Given the description of an element on the screen output the (x, y) to click on. 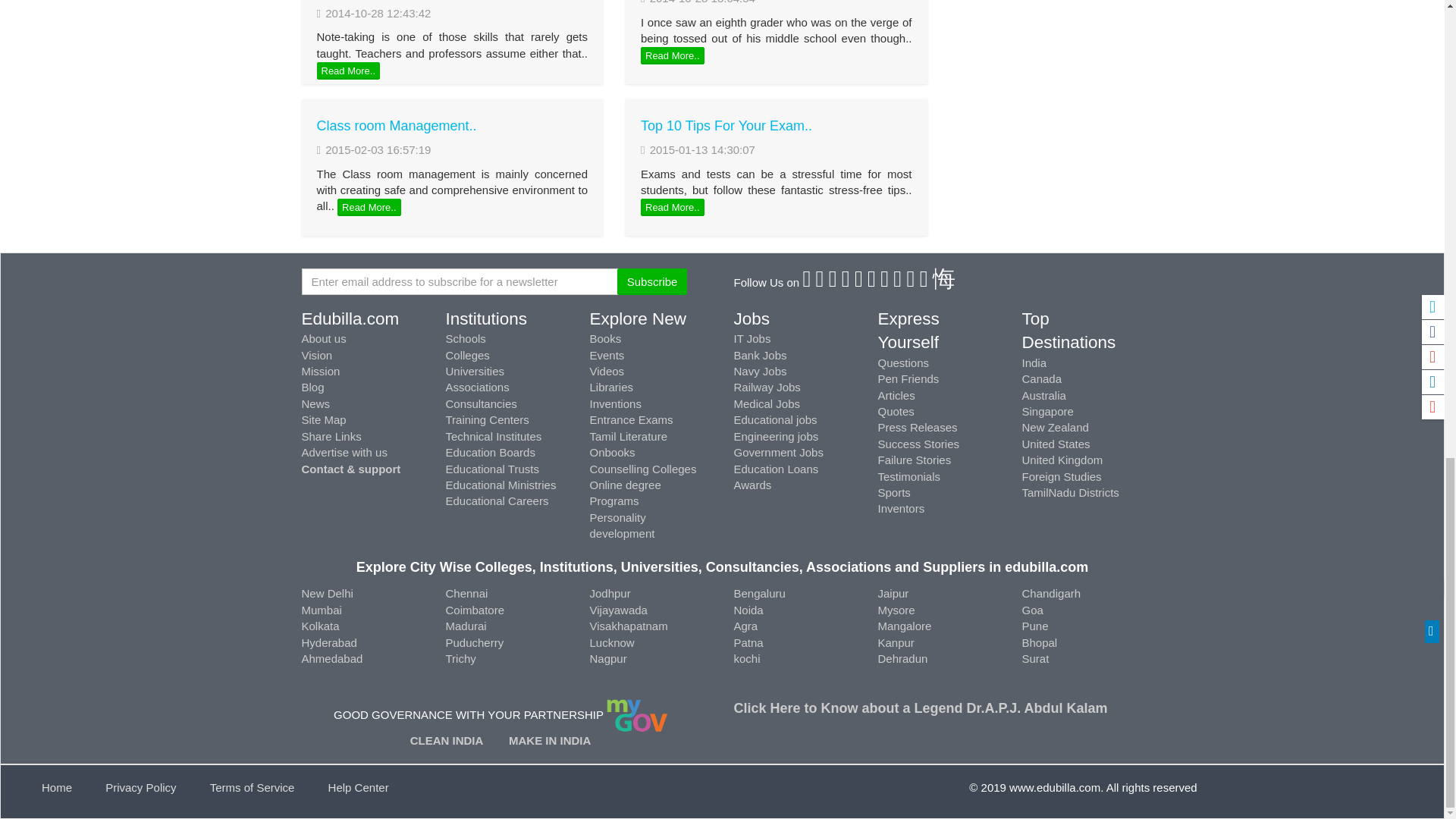
Read More.. (672, 55)
Subscribe (652, 281)
Read More.. (369, 208)
Top 10 Tips For Your Exam.. (726, 125)
Read More.. (672, 208)
Top 10 Tips For Your Exam (726, 125)
Subscribe (652, 281)
Class room Management (397, 125)
Class room Management.. (397, 125)
Read More.. (348, 71)
